Given the description of an element on the screen output the (x, y) to click on. 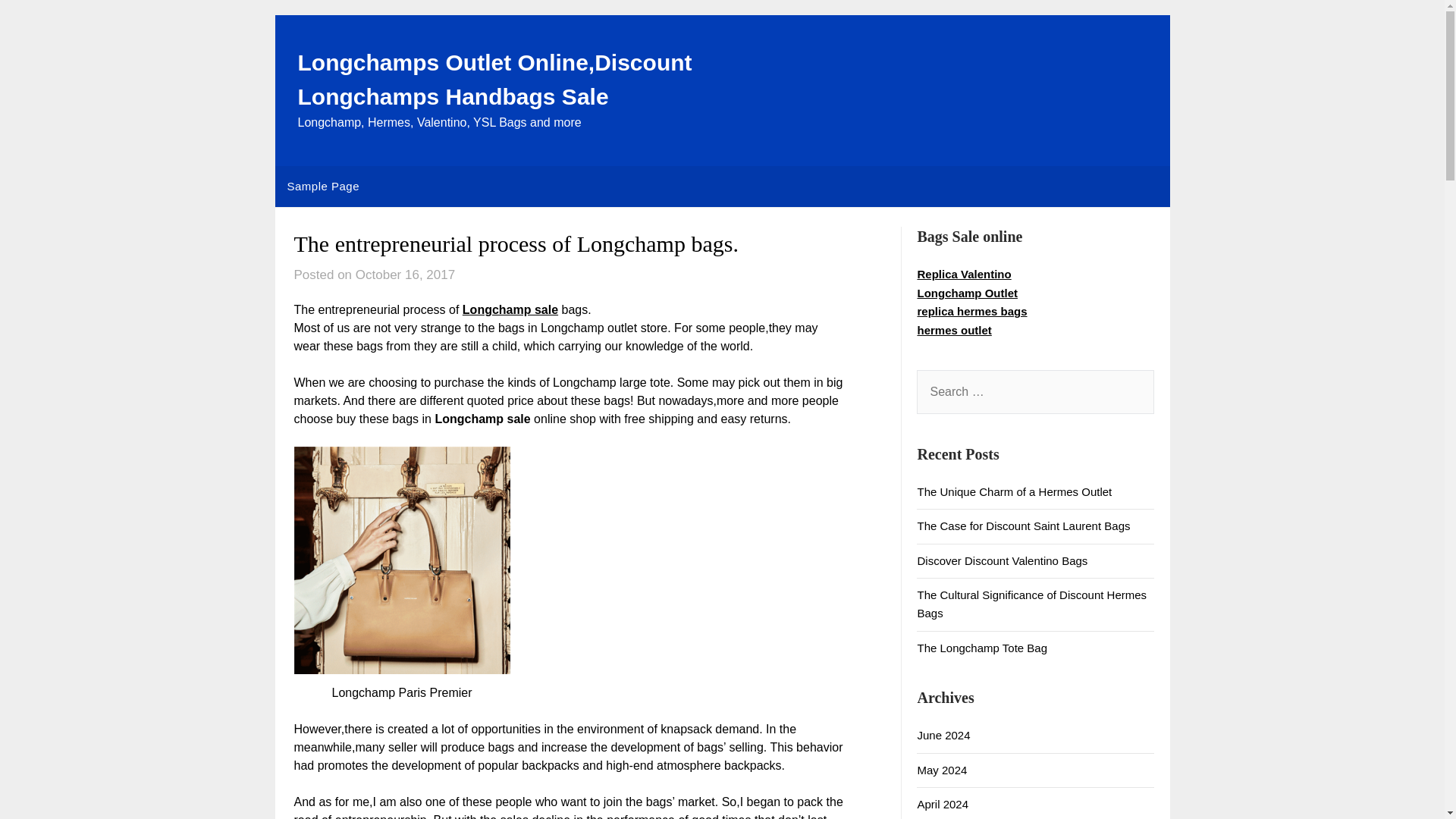
Longchamp sale (510, 309)
April 2024 (942, 803)
Discover Discount Valentino Bags (1002, 560)
Search (38, 22)
Longchamp Outlet (967, 292)
replica hermes bags (971, 310)
Sample Page (323, 186)
June 2024 (943, 735)
The Case for Discount Saint Laurent Bags (1023, 525)
The Unique Charm of a Hermes Outlet (1014, 491)
